Given the description of an element on the screen output the (x, y) to click on. 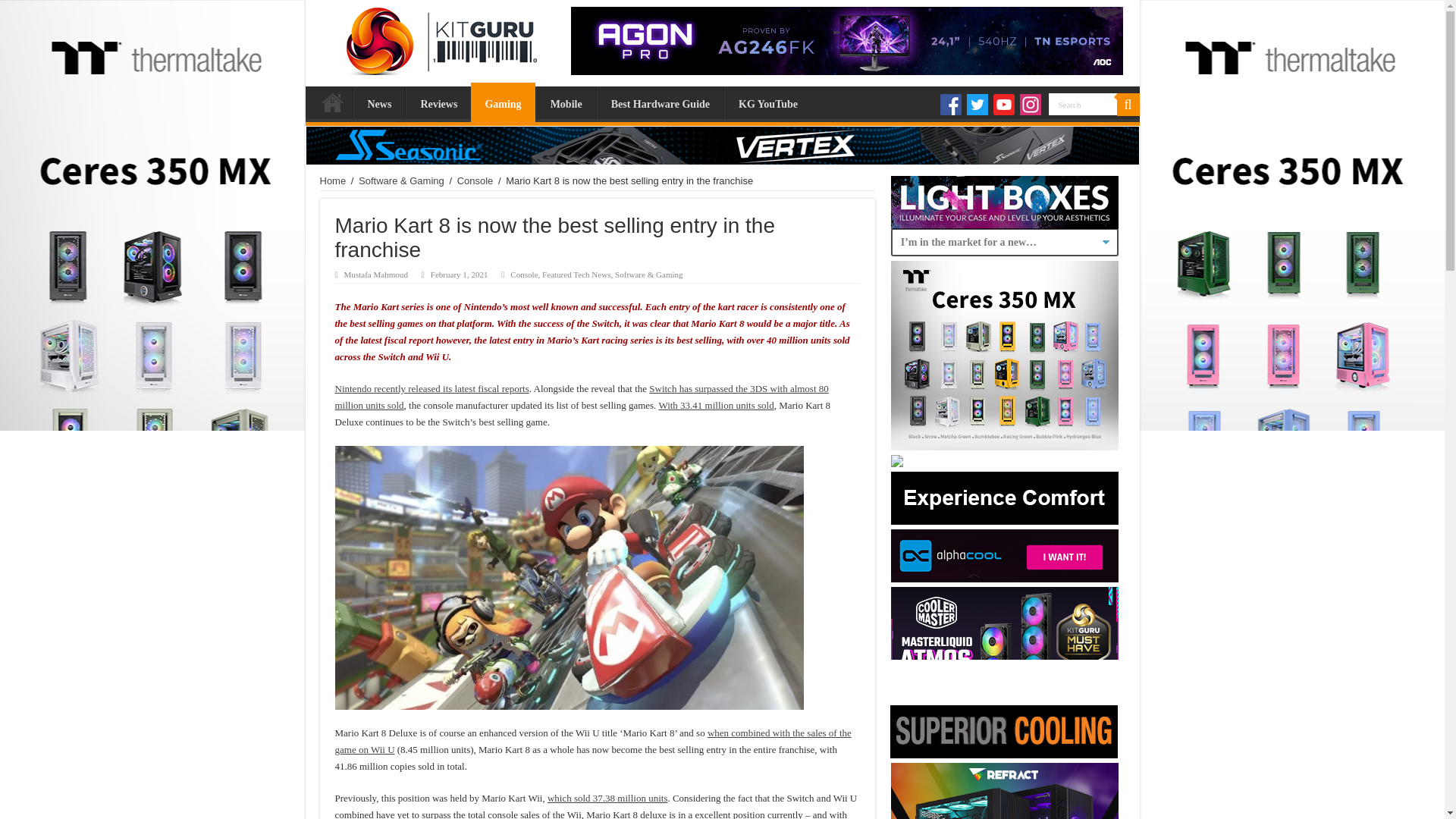
Search (1127, 104)
Instagram (1030, 104)
Console (524, 274)
Featured Tech News (575, 274)
Mustafa Mahmoud (375, 274)
Youtube (1003, 104)
News (379, 101)
Twitter (977, 104)
Nintendo recently released its latest fiscal reports (431, 388)
Home (332, 101)
